Given the description of an element on the screen output the (x, y) to click on. 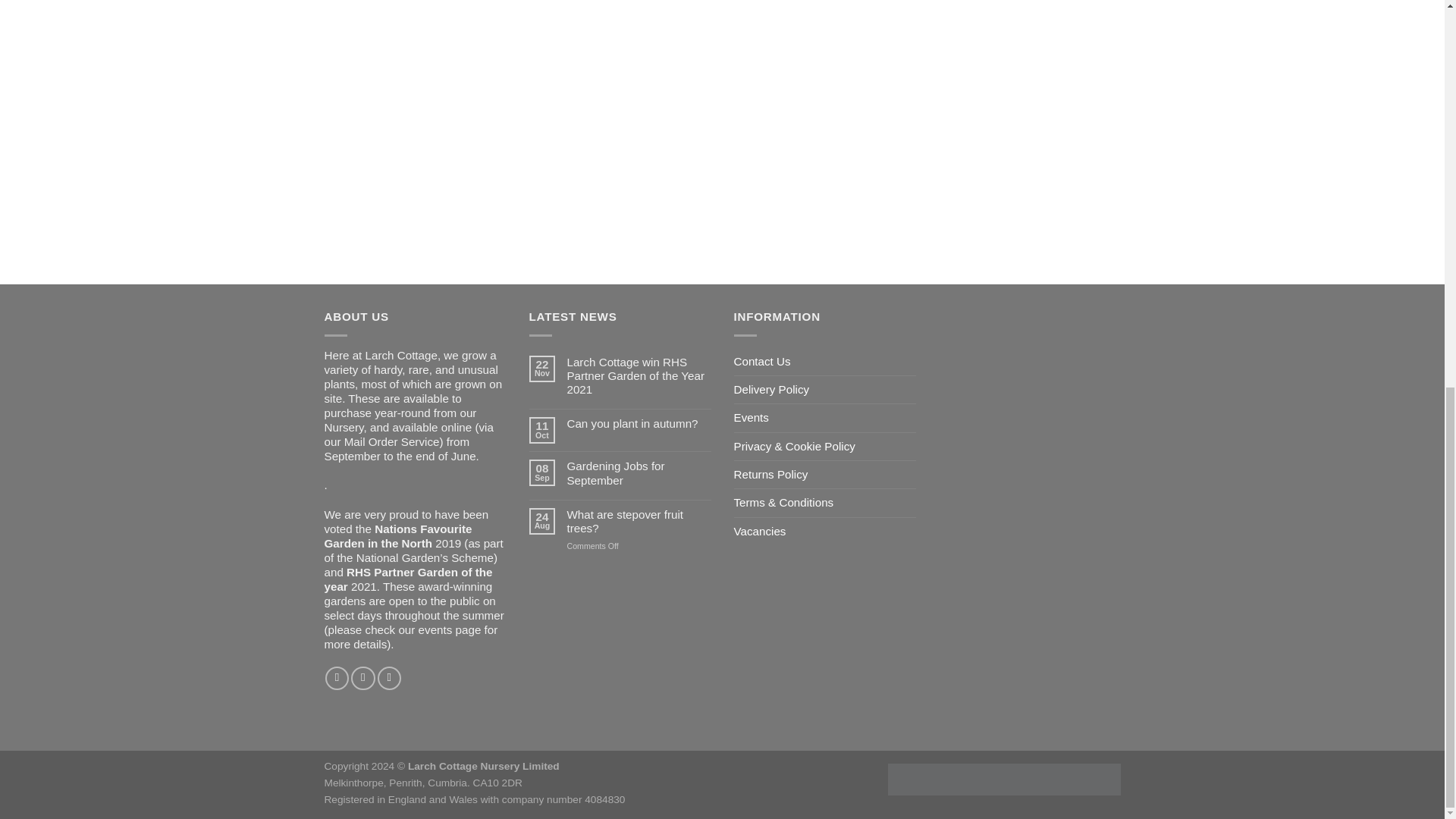
Follow on Instagram (362, 678)
Larch Cottage win RHS Partner Garden of the Year 2021 (638, 376)
What are stepover fruit trees? (638, 521)
Gardening Jobs for September (638, 472)
Can you plant in autumn? (638, 423)
Follow on Facebook (336, 678)
Follow on Twitter (389, 678)
